Given the description of an element on the screen output the (x, y) to click on. 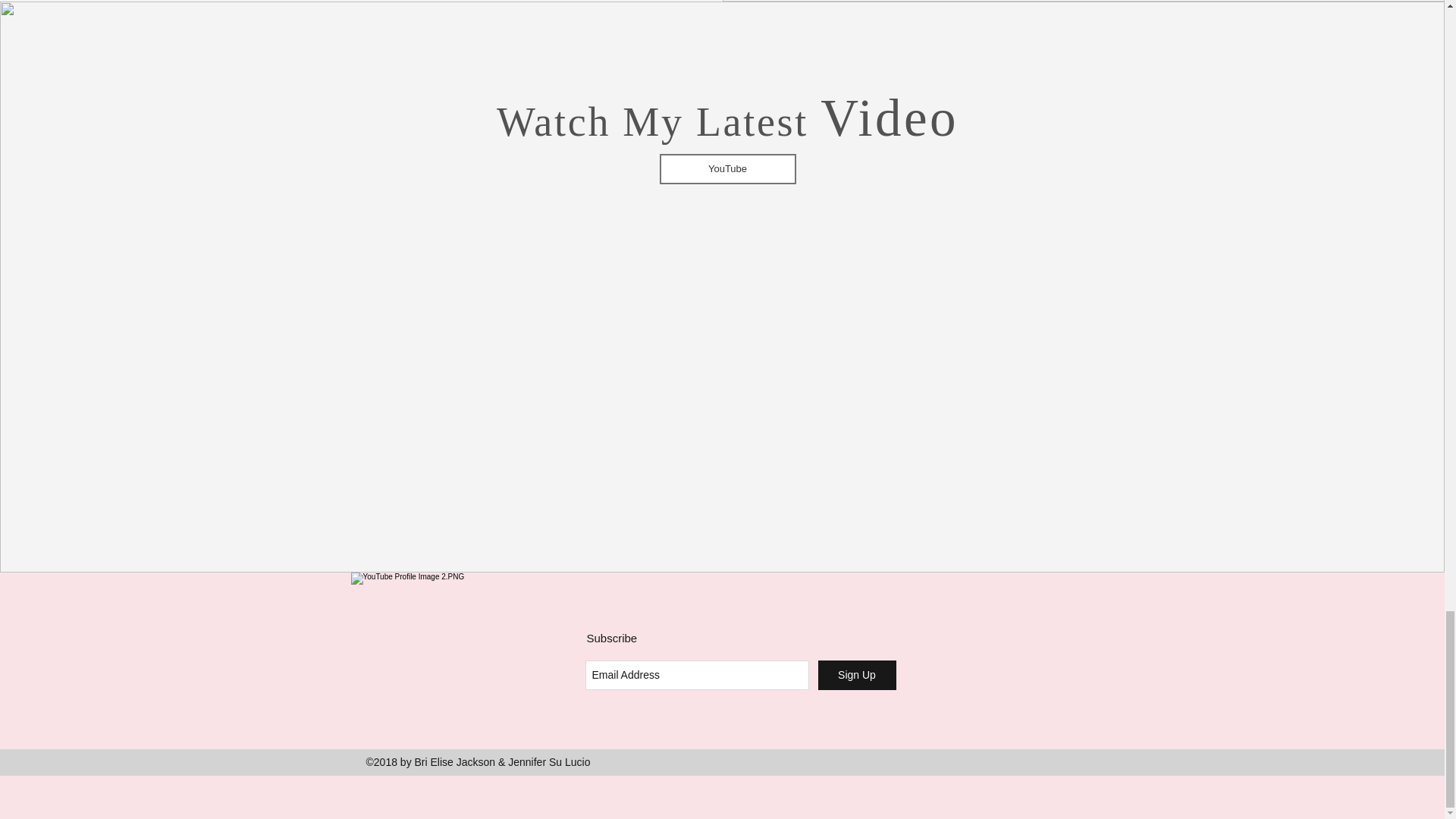
Sign Up (855, 675)
YouTube (727, 168)
